Given the description of an element on the screen output the (x, y) to click on. 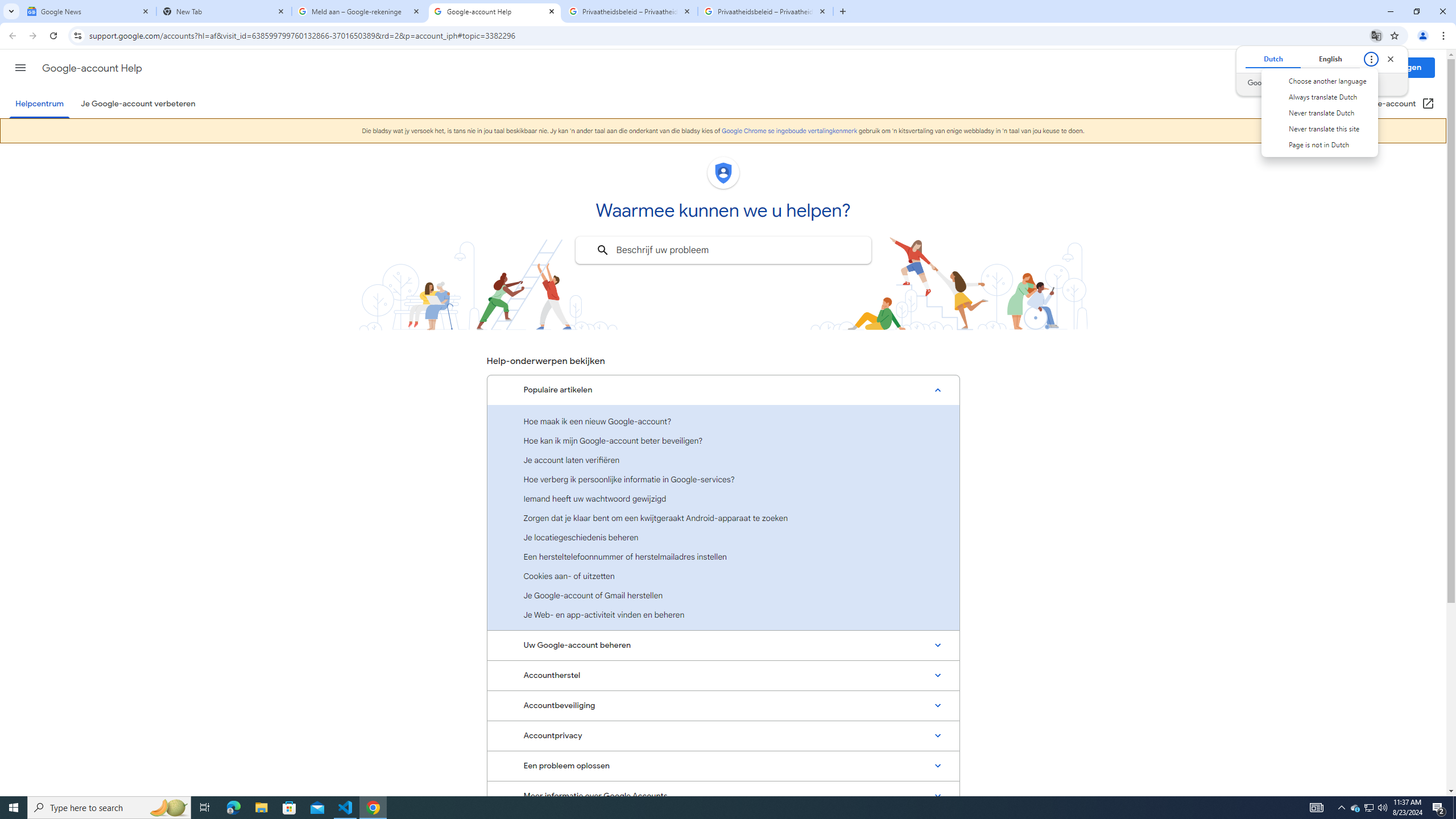
Action Center, 2 new notifications (1439, 807)
Google Chrome se ingeboude vertalingkenmerk (789, 130)
Helpcentrum (38, 103)
